Given the description of an element on the screen output the (x, y) to click on. 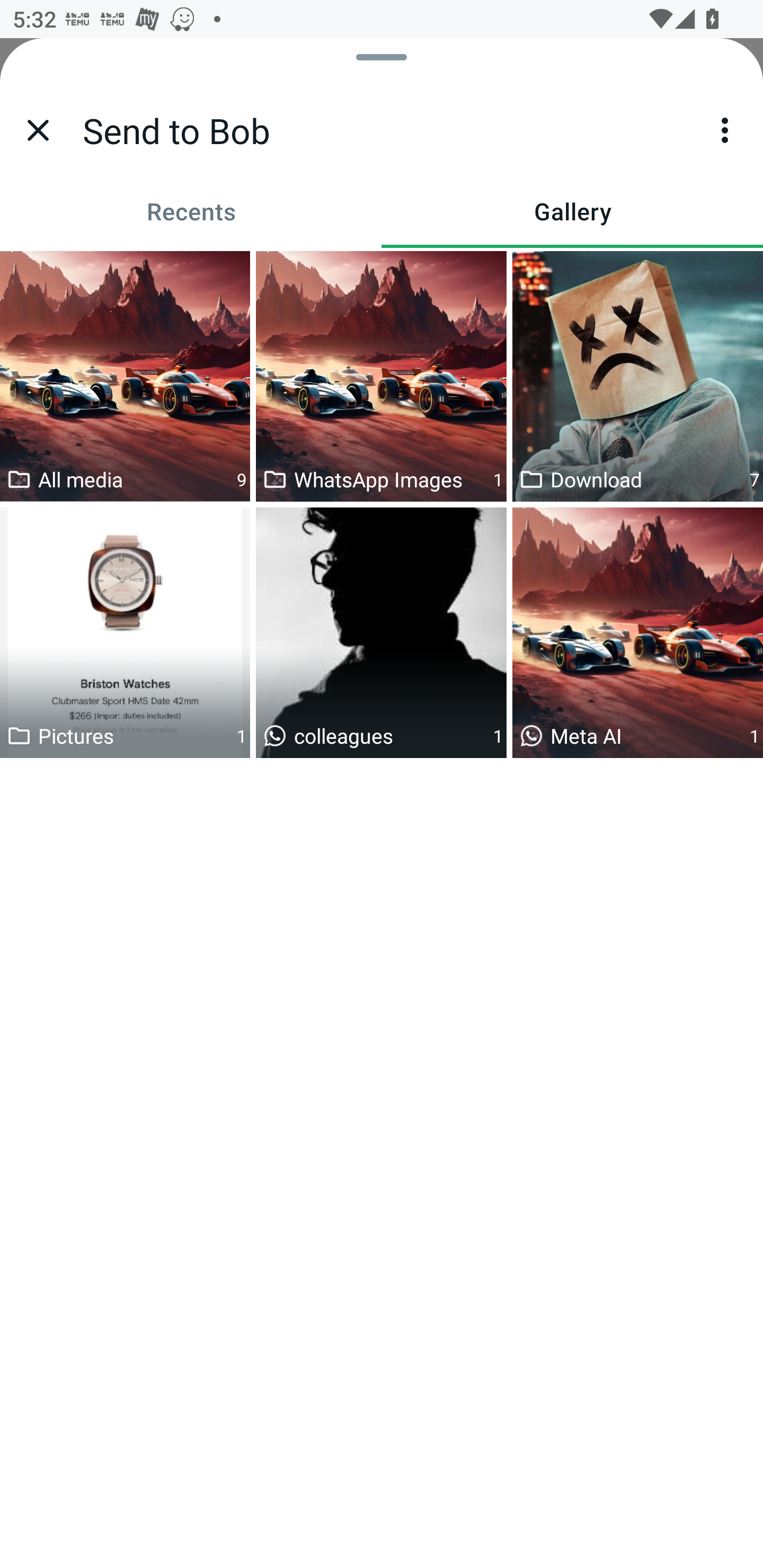
Close (38, 130)
More (724, 129)
Recents (190, 210)
All media 9 (125, 375)
WhatsApp Images 1 (380, 375)
Download 7 (637, 375)
Pictures 1 (125, 632)
colleagues 1 (380, 632)
Meta AI 1 (637, 632)
